Given the description of an element on the screen output the (x, y) to click on. 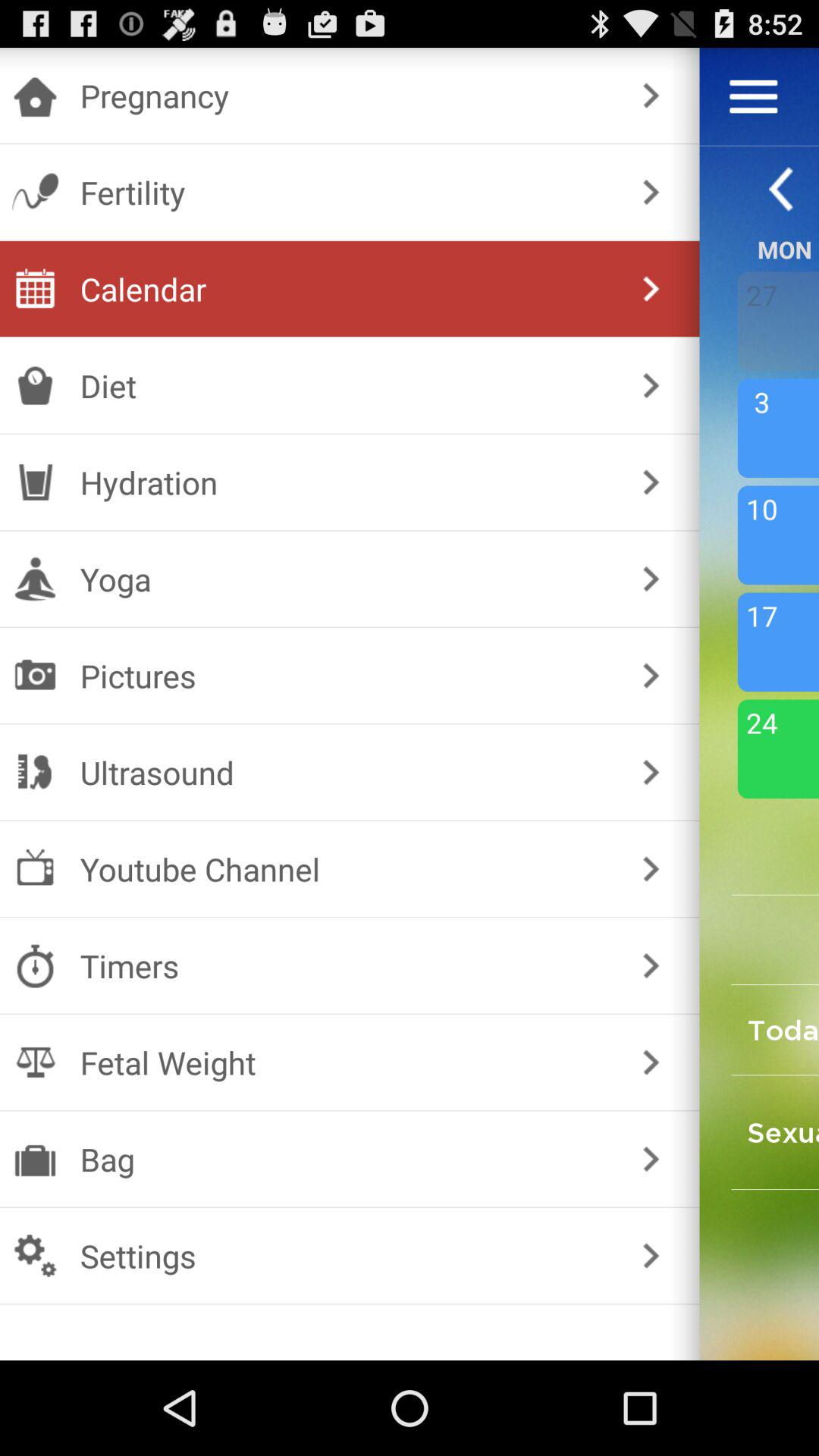
click the settings icon (346, 1255)
